Given the description of an element on the screen output the (x, y) to click on. 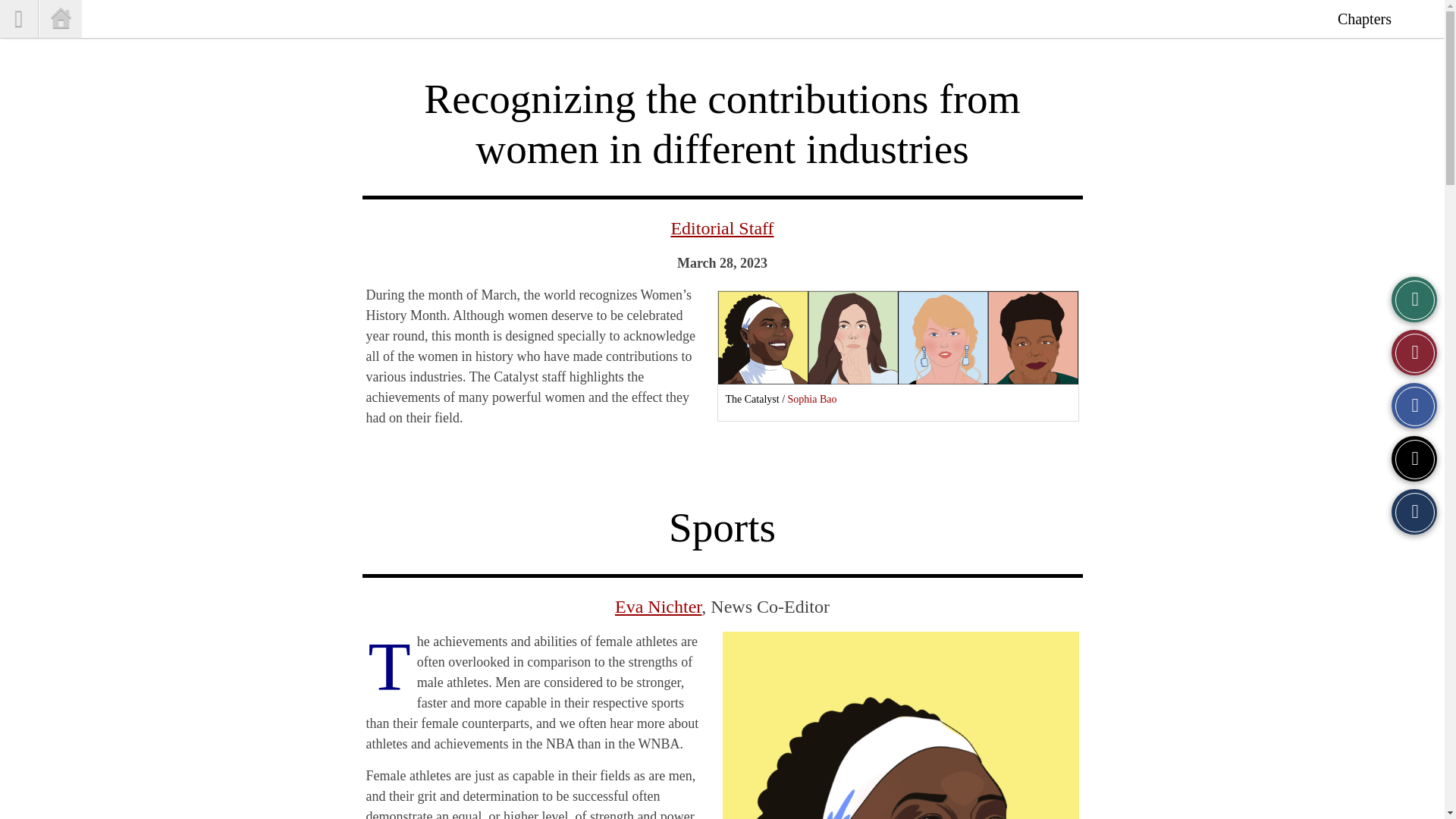
Share on Facebook (1414, 405)
Editorial Staff (721, 228)
Sophia Bao (812, 398)
Chapters (1364, 18)
Tweet This Story (1414, 458)
Eva Nichter (657, 606)
Email this Story (1414, 511)
